Given the description of an element on the screen output the (x, y) to click on. 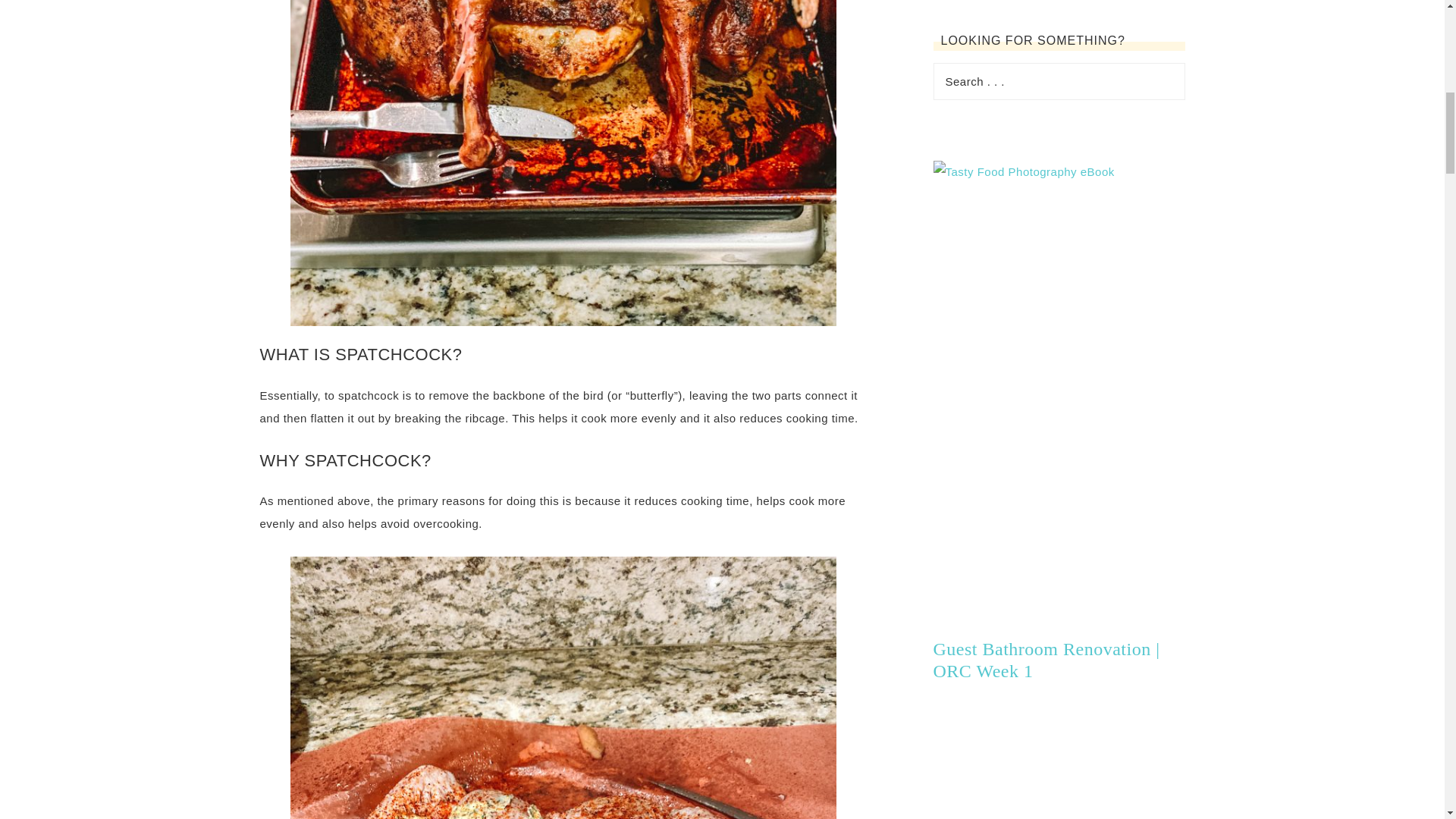
Tasty Food Photography eBook (1023, 171)
